Given the description of an element on the screen output the (x, y) to click on. 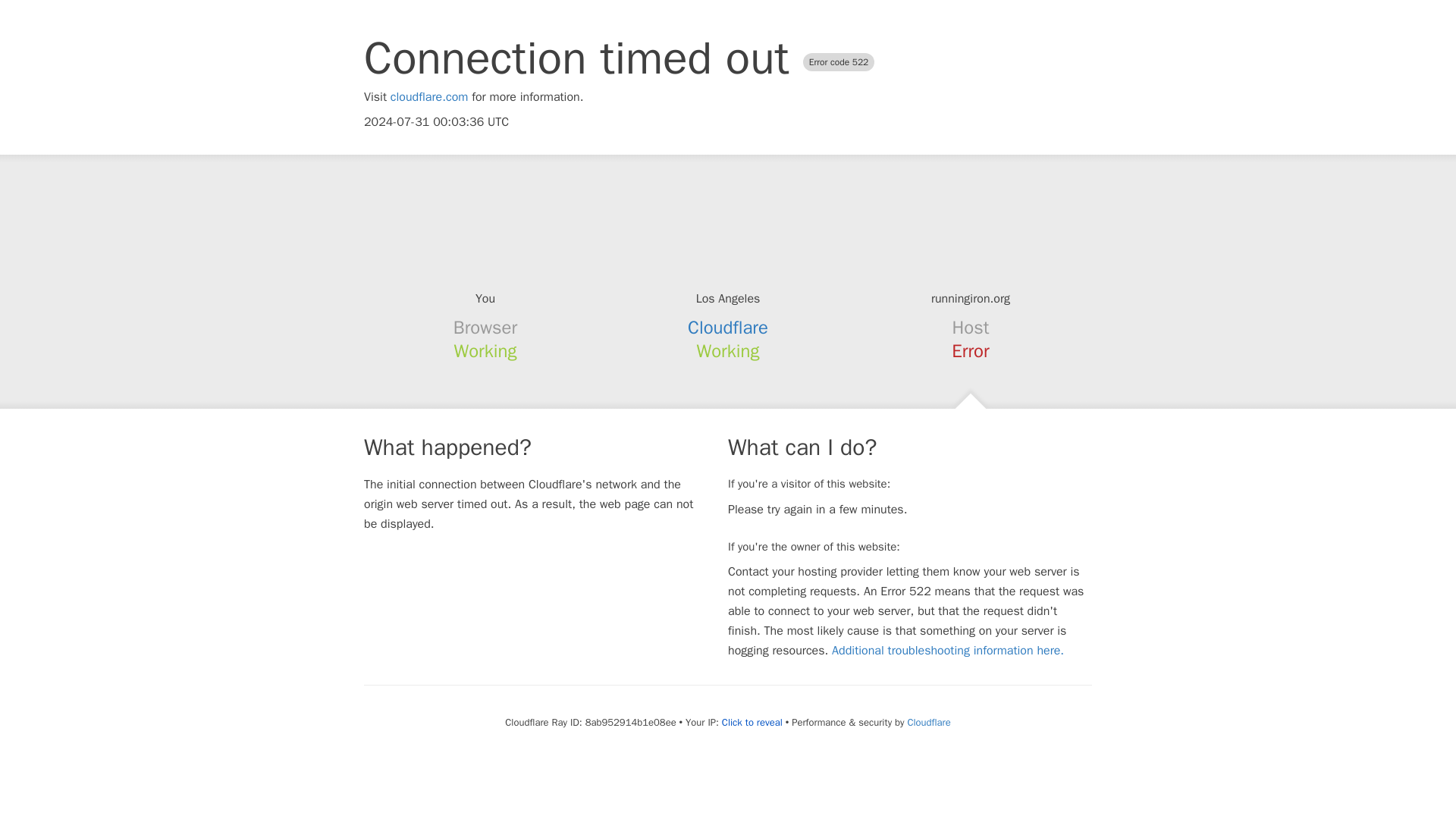
Cloudflare (928, 721)
Additional troubleshooting information here. (947, 650)
Click to reveal (752, 722)
cloudflare.com (429, 96)
Cloudflare (727, 327)
